Given the description of an element on the screen output the (x, y) to click on. 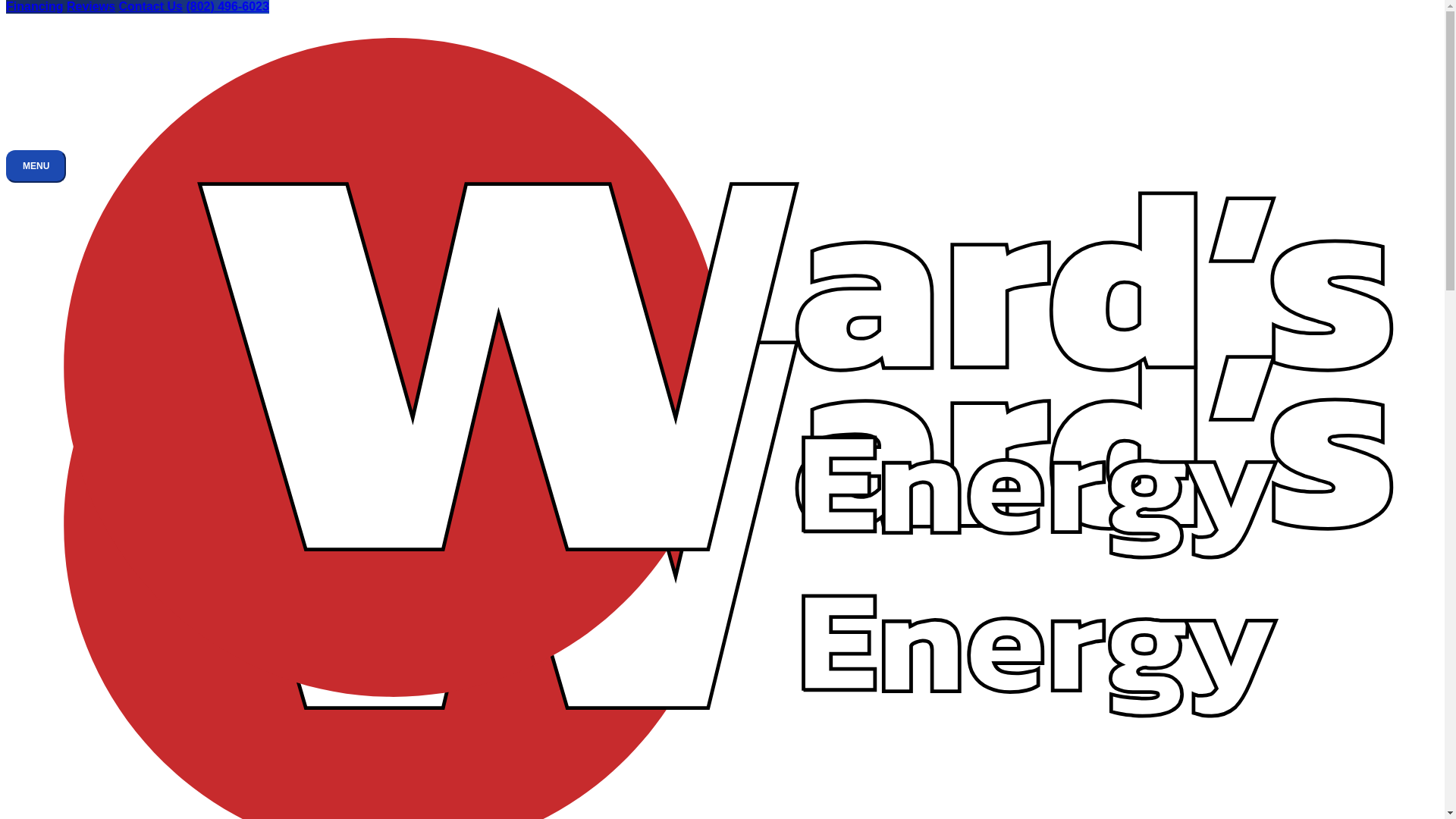
Reviews (90, 6)
Contact Us (151, 6)
Financing (34, 6)
MENU (35, 165)
